Given the description of an element on the screen output the (x, y) to click on. 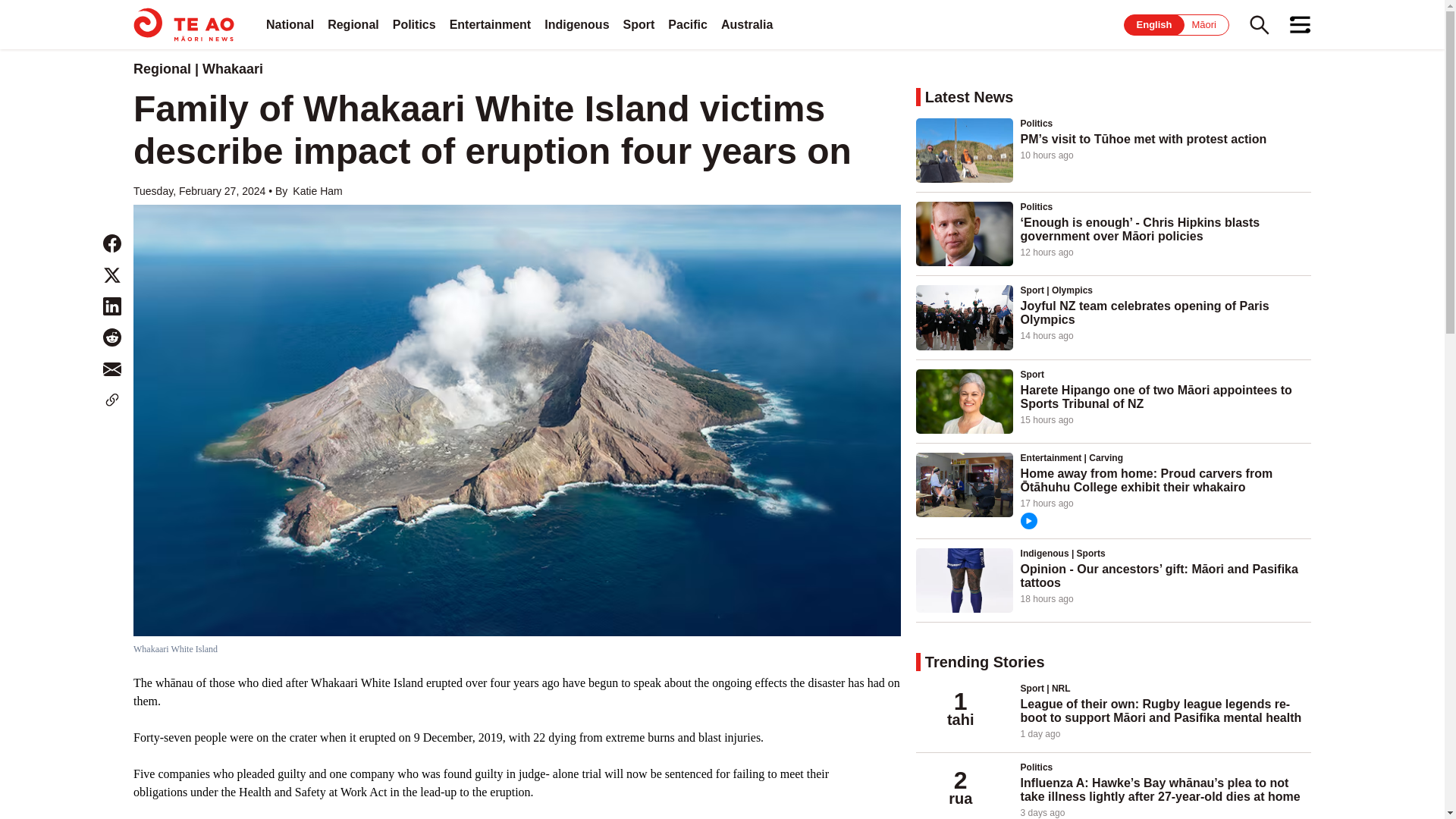
National (290, 24)
Indigenous (576, 24)
Pacific (687, 24)
Copy SocialLink (111, 399)
Sport (639, 24)
Australia (746, 24)
English (1154, 24)
Regional (352, 24)
Entertainment (490, 24)
Politics (414, 24)
